Given the description of an element on the screen output the (x, y) to click on. 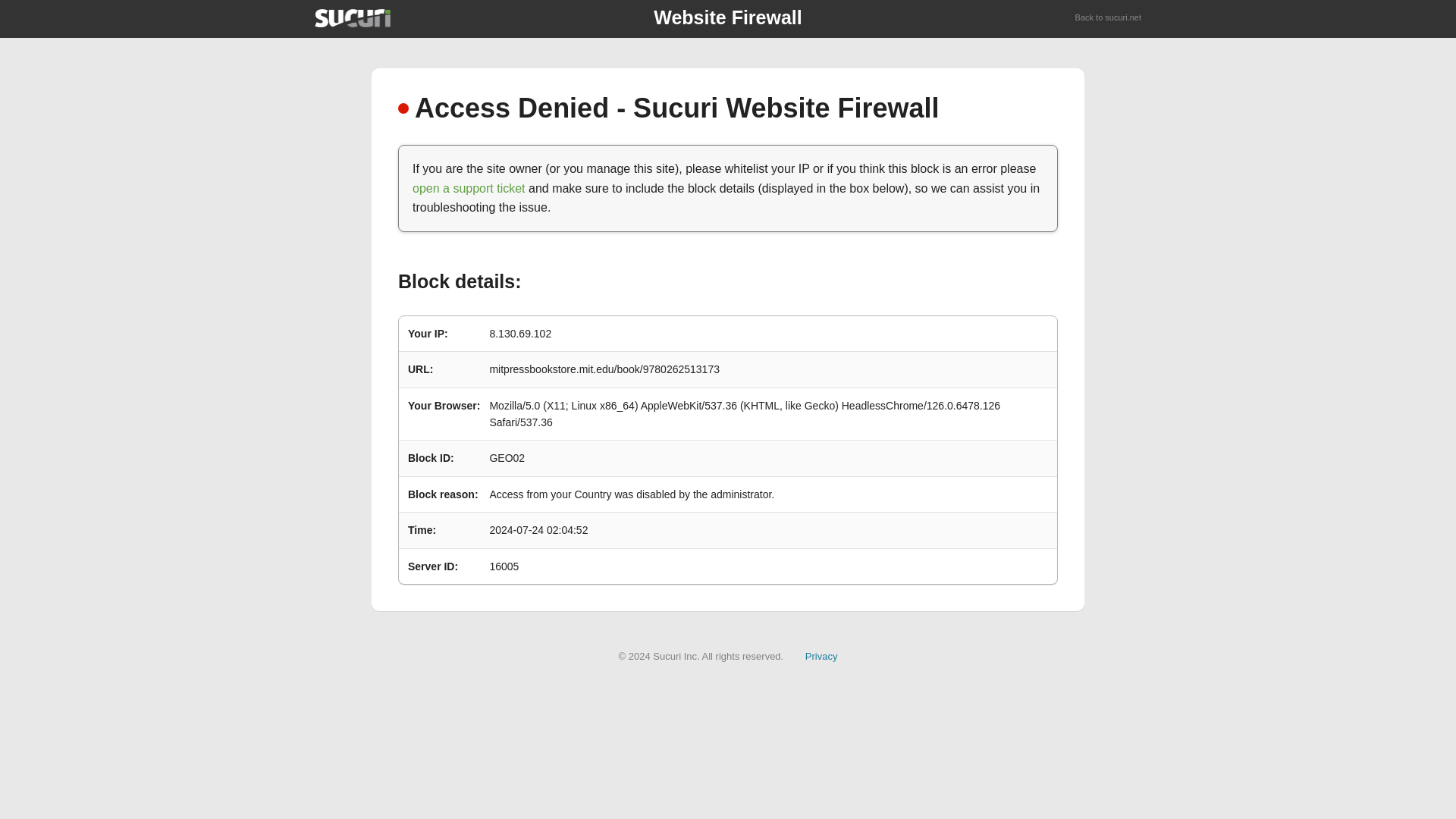
Back to sucuri.net (1108, 18)
open a support ticket (468, 187)
Privacy (821, 655)
